Given the description of an element on the screen output the (x, y) to click on. 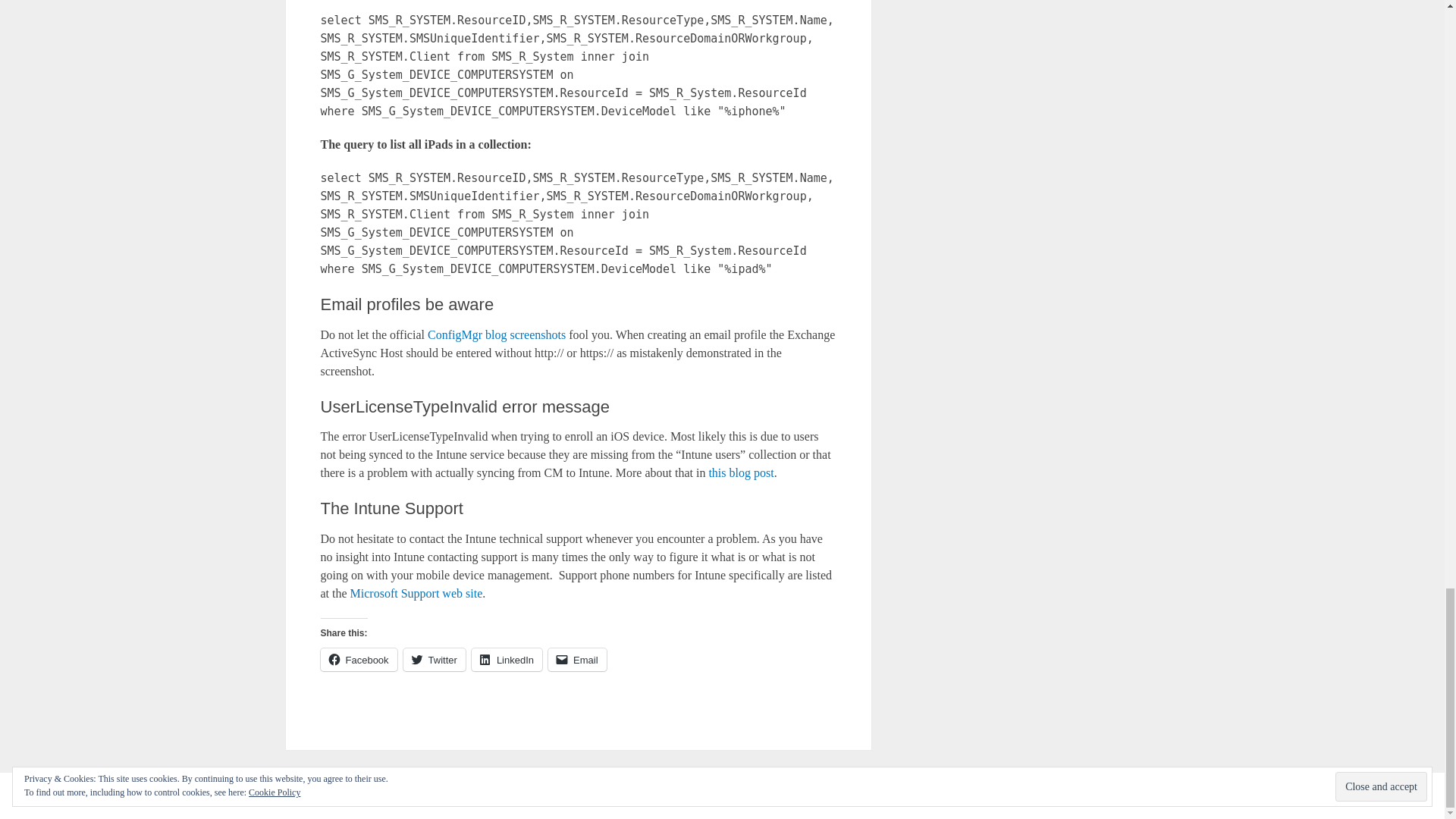
this blog post (740, 472)
LinkedIn (506, 659)
ConfigMgr blog screenshots (497, 334)
Click to share on LinkedIn (506, 659)
Click to share on Twitter (434, 659)
Email (577, 659)
Click to email a link to a friend (577, 659)
Facebook (358, 659)
Microsoft Support web site (416, 593)
Twitter (434, 659)
Click to share on Facebook (358, 659)
